Given the description of an element on the screen output the (x, y) to click on. 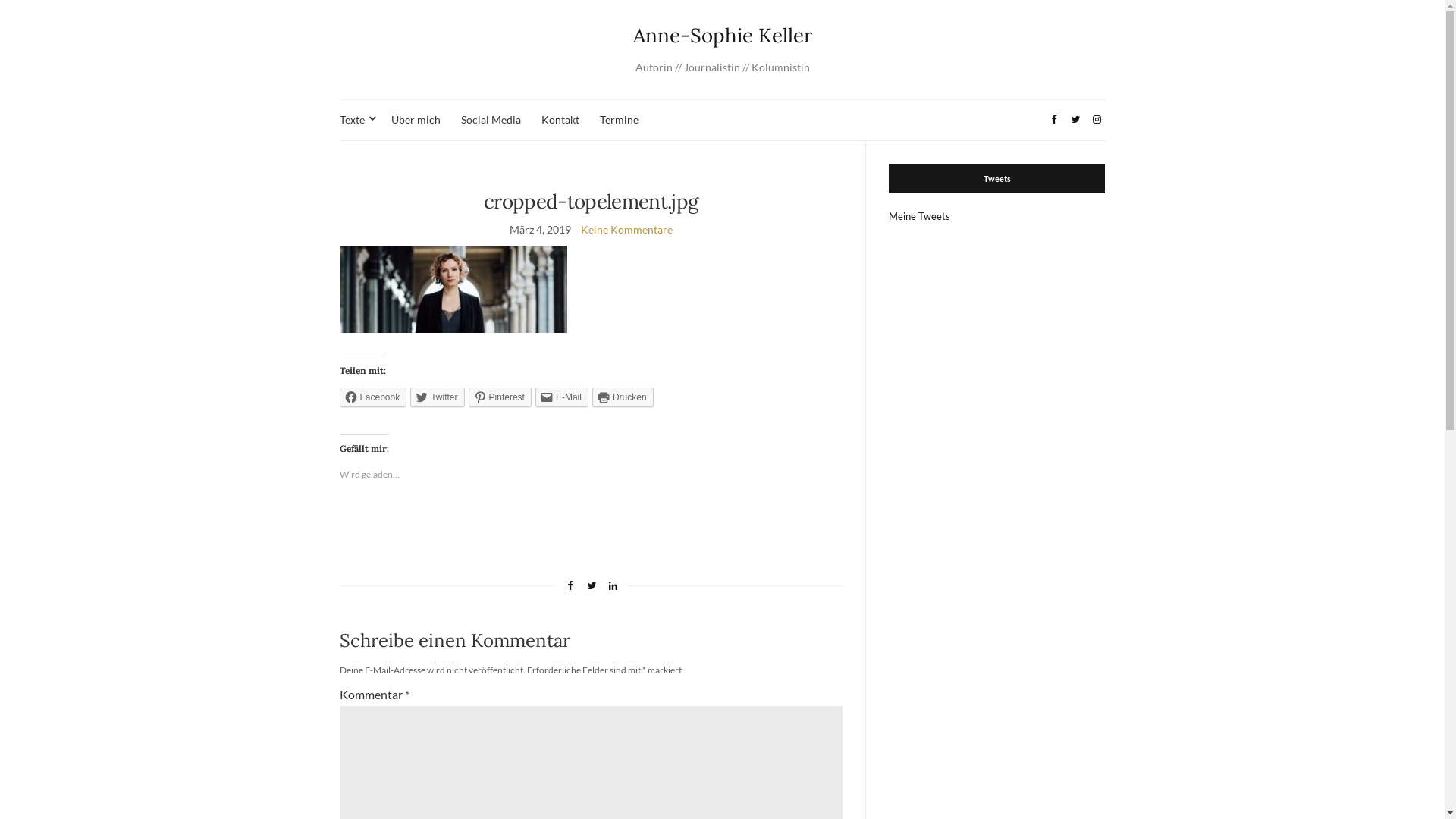
Anne-Sophie Keller Element type: text (722, 34)
Pinterest Element type: text (499, 397)
Social Media Element type: text (490, 119)
E-Mail Element type: text (561, 397)
Kontakt Element type: text (560, 119)
Keine Kommentare Element type: text (626, 228)
Liken oder rebloggen Element type: hover (590, 525)
Drucken Element type: text (622, 397)
Termine Element type: text (618, 119)
Meine Tweets Element type: text (919, 216)
Twitter Element type: text (437, 397)
Texte Element type: text (354, 119)
Facebook Element type: text (373, 397)
